Given the description of an element on the screen output the (x, y) to click on. 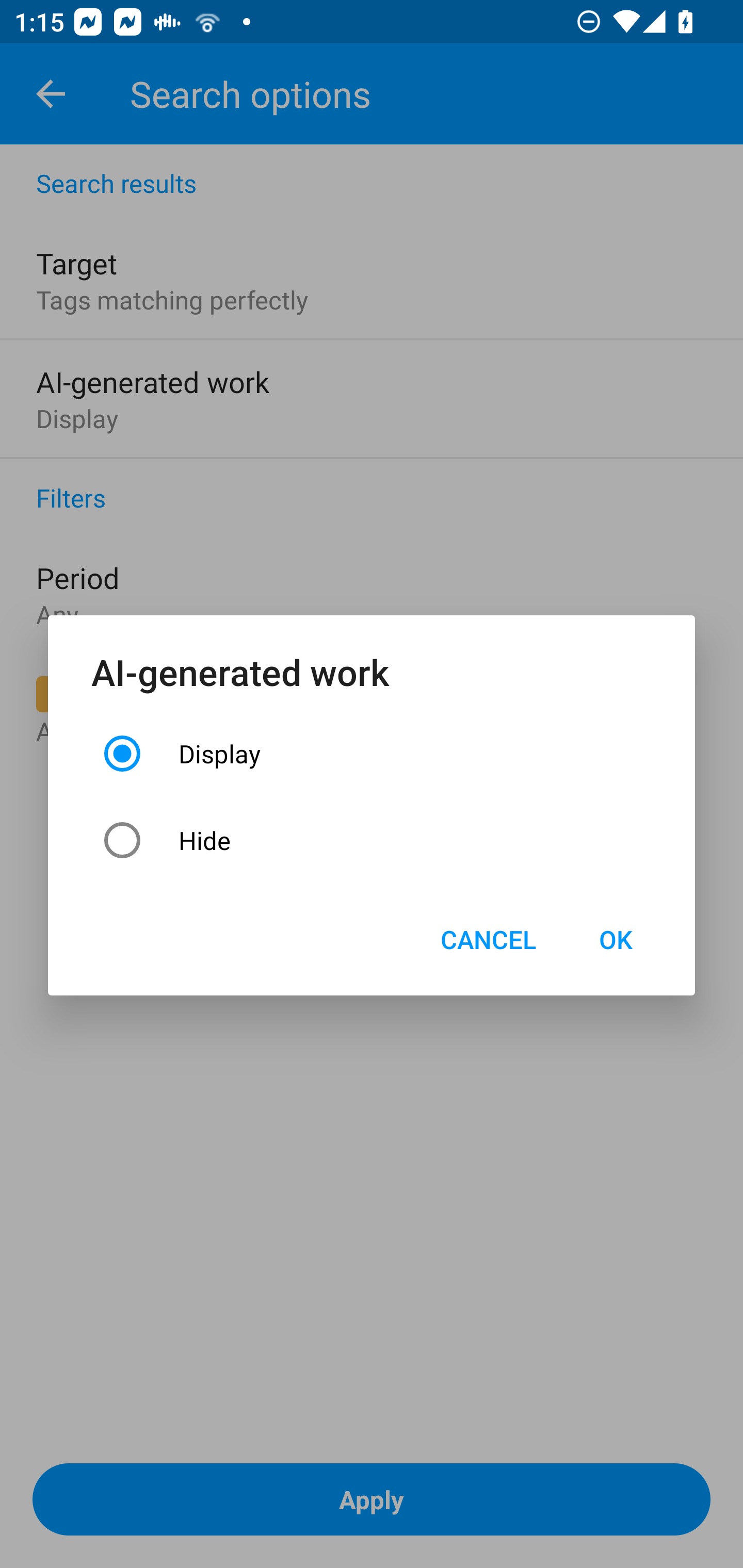
Display (371, 753)
Hide (371, 839)
CANCEL (488, 938)
OK (615, 938)
